Given the description of an element on the screen output the (x, y) to click on. 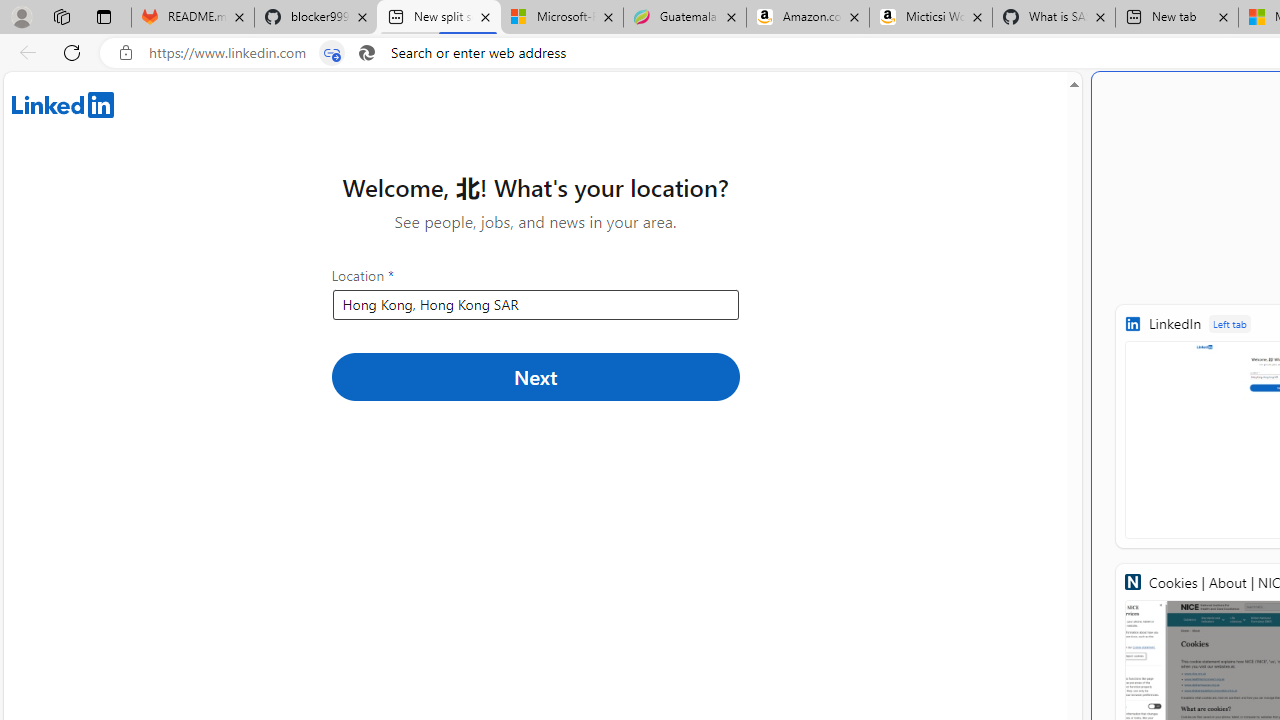
Tabs in split screen (331, 53)
Microsoft-Report a Concern to Bing (561, 17)
